Given the description of an element on the screen output the (x, y) to click on. 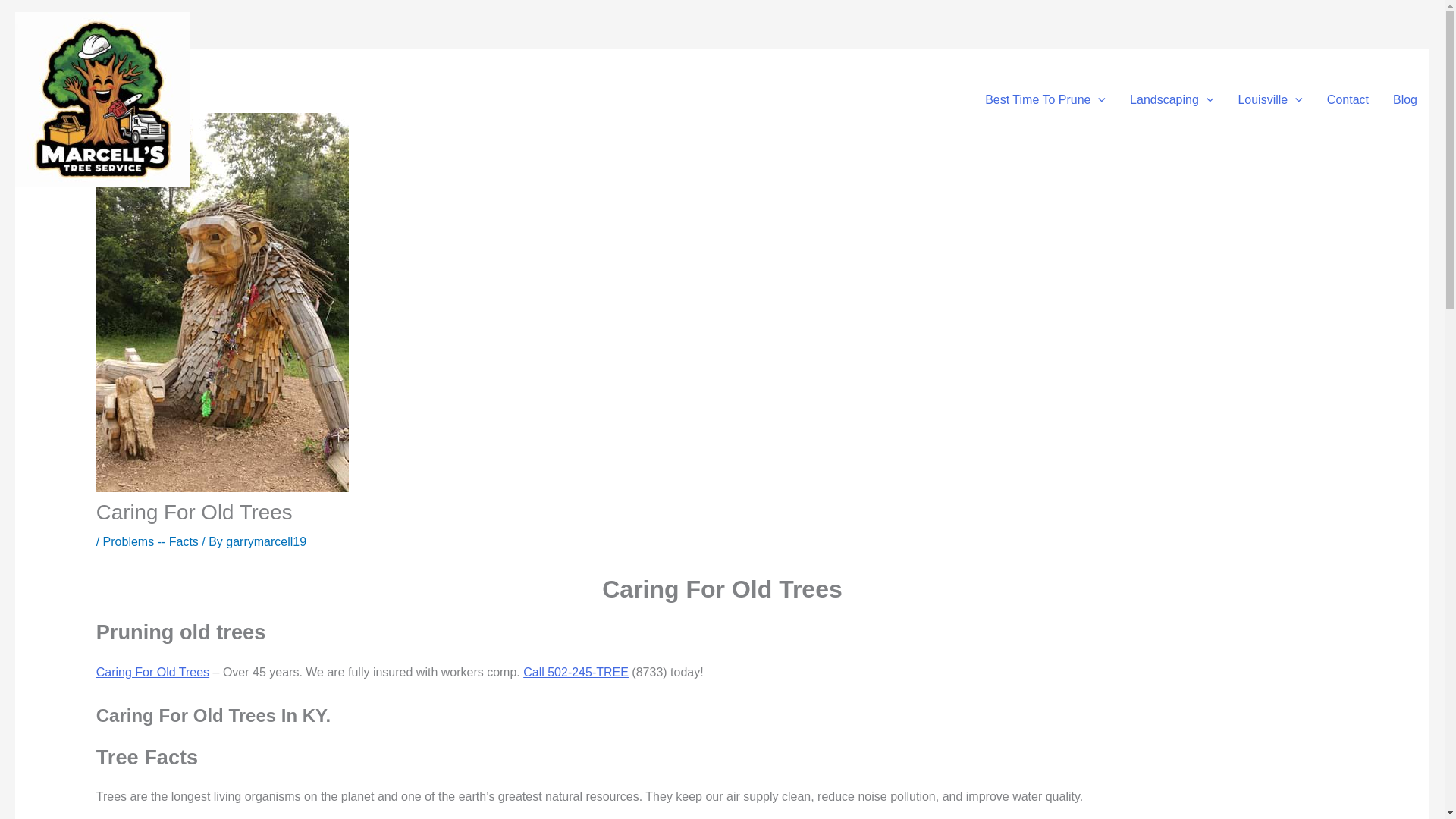
Louisville (1269, 99)
Landscaping (1171, 99)
Caring For Old Trees (152, 671)
Problems -- Facts (150, 541)
Best Time To Prune (1045, 99)
View all posts by garrymarcell19 (265, 541)
garrymarcell19 (265, 541)
Blog (1404, 99)
Call 502-245-TREE (575, 671)
Contact (1347, 99)
